Given the description of an element on the screen output the (x, y) to click on. 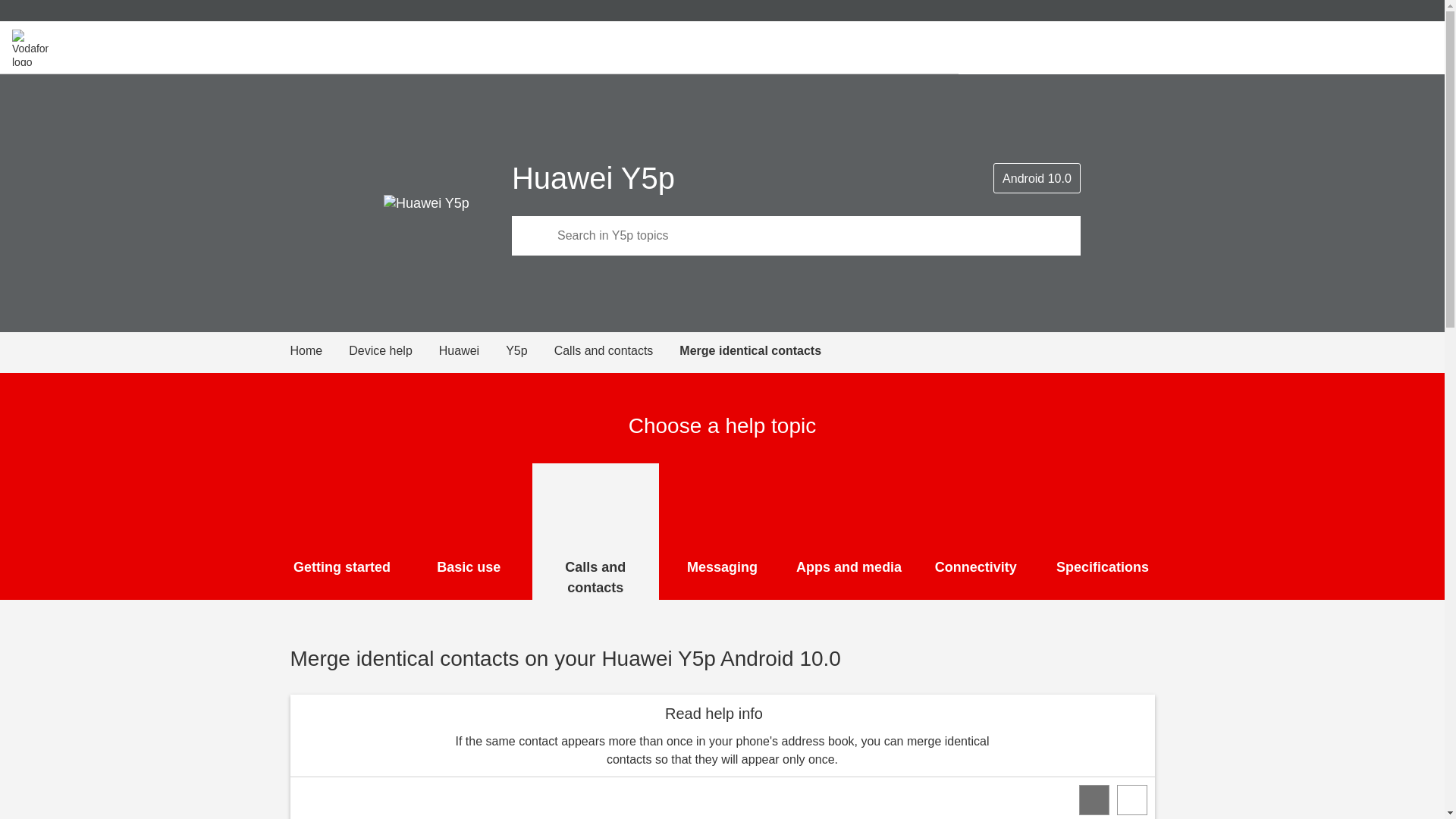
Y5p (529, 351)
Getting started (342, 531)
Huawei (472, 351)
Merge identical contacts (750, 351)
Device help (394, 351)
Basic use (469, 531)
Specifications (1102, 531)
Messaging (722, 531)
Calls and contacts (616, 351)
Connectivity (975, 531)
